Given the description of an element on the screen output the (x, y) to click on. 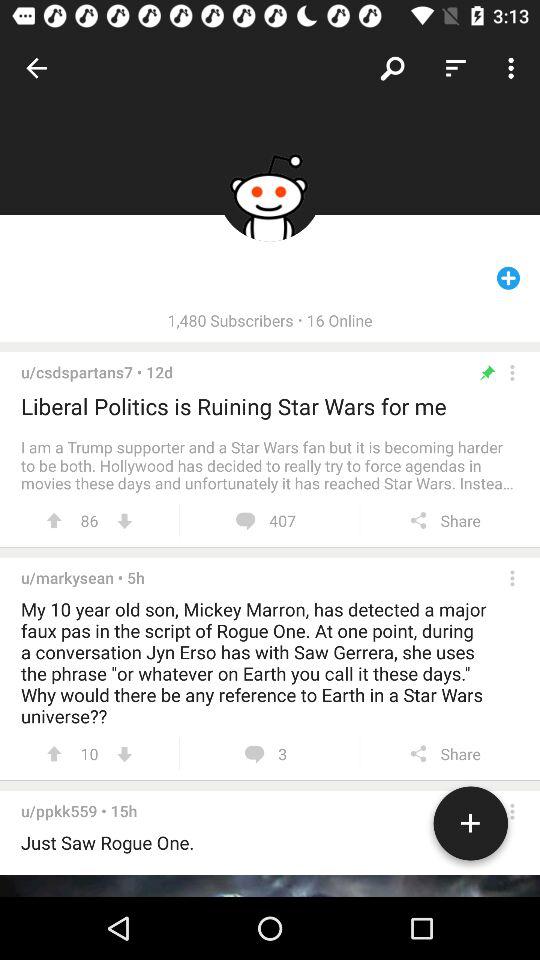
down vote (124, 520)
